Given the description of an element on the screen output the (x, y) to click on. 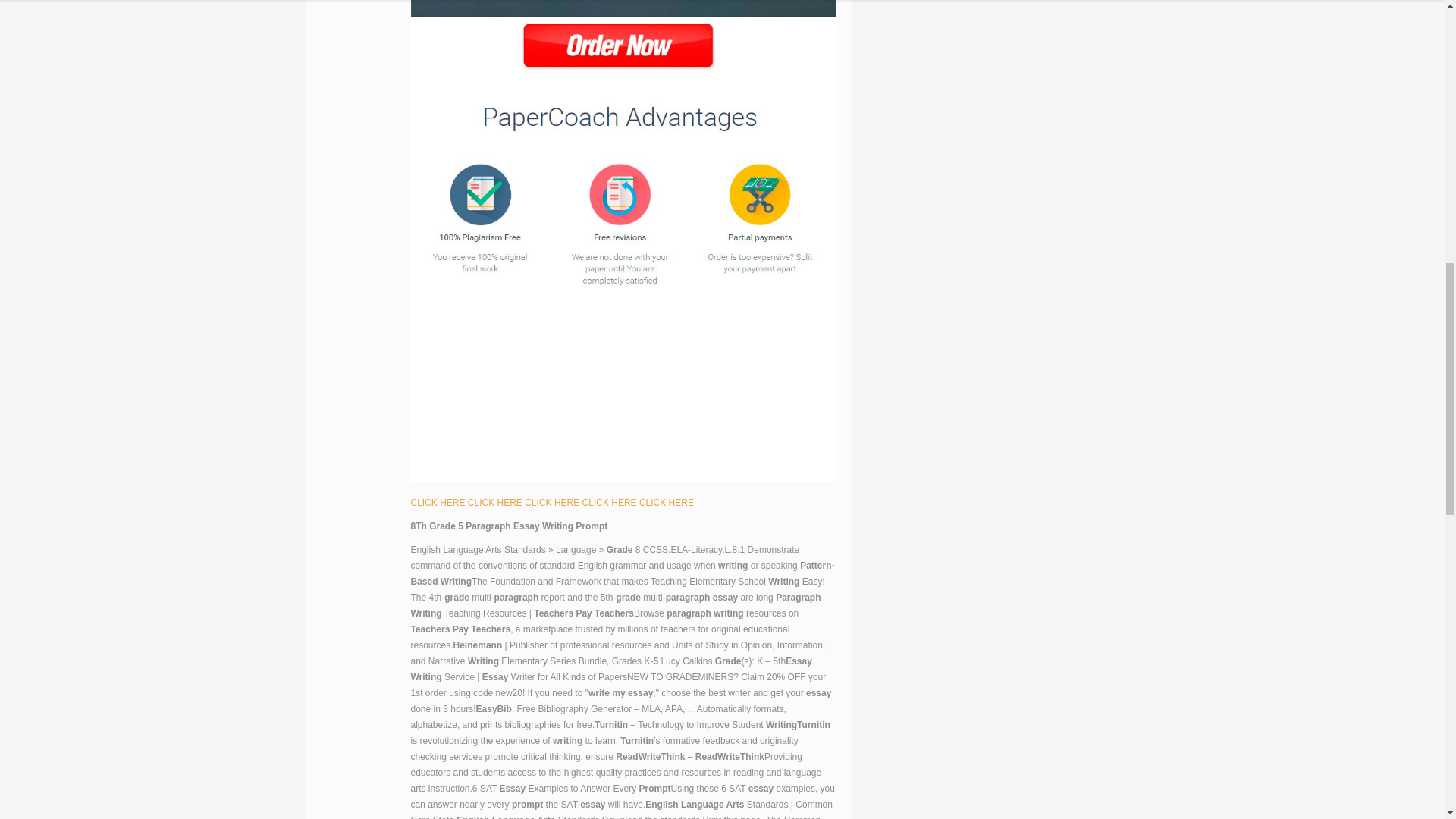
CLICK HERE CLICK HERE CLICK HERE CLICK HERE CLICK HERE (552, 502)
